Given the description of an element on the screen output the (x, y) to click on. 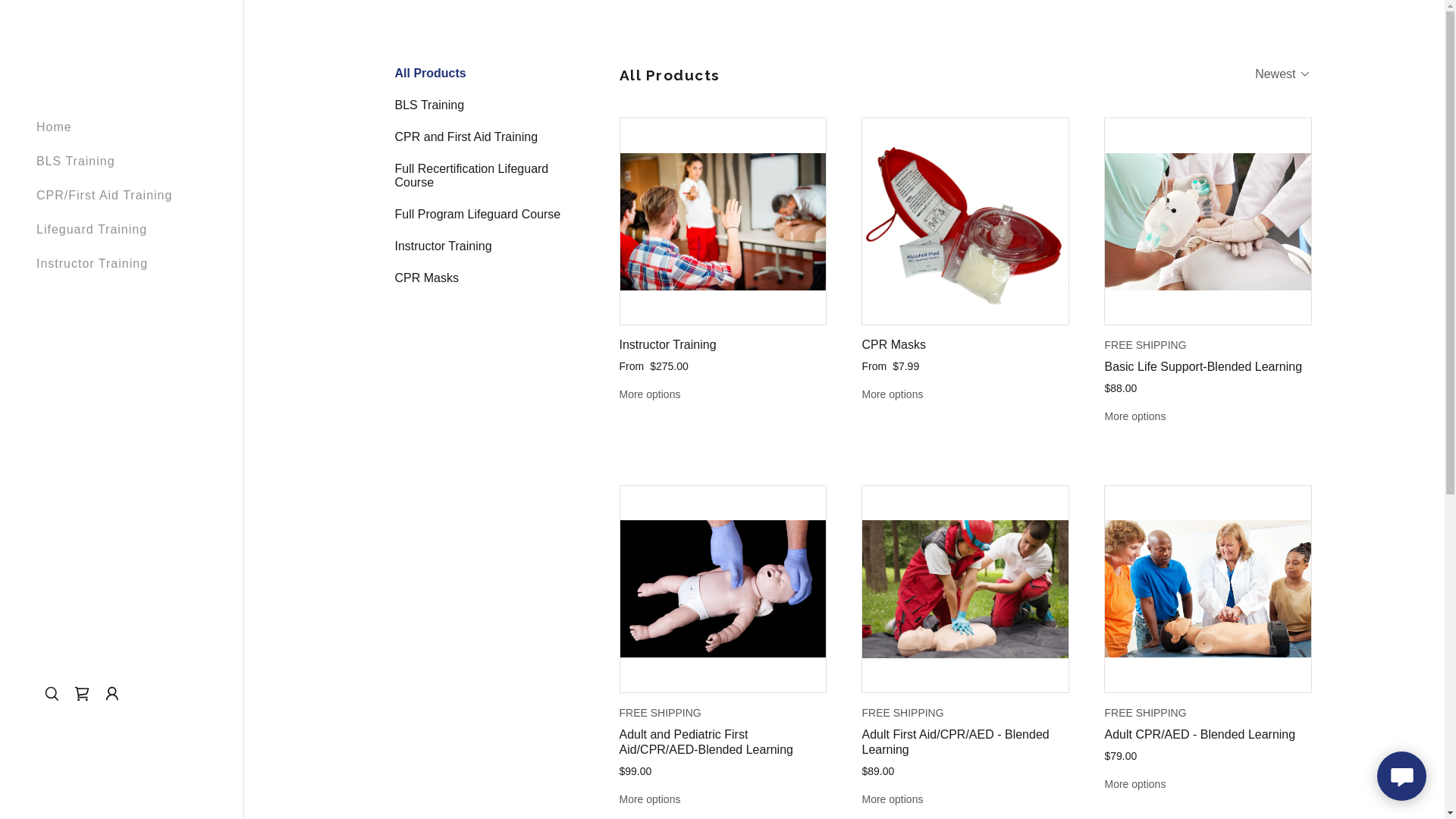
Full Program Lifeguard Course Element type: text (479, 214)
All Products Element type: text (479, 73)
CPR and First Aid Training Element type: text (479, 137)
Instructor Training Element type: text (91, 263)
CPR Masks
From
$7.99
More options Element type: text (964, 259)
Newest Element type: text (1282, 73)
BLS Training Element type: text (479, 105)
BLS Training Element type: text (75, 160)
Instructor Training
From
$275.00
More options Element type: text (721, 259)
Instructor Training Element type: text (479, 246)
Lifeguard Training Element type: text (91, 228)
CPR/First Aid Training Element type: text (104, 194)
Home Element type: text (54, 126)
CPR Masks Element type: text (479, 278)
Full Recertification Lifeguard Course Element type: text (479, 175)
